Given the description of an element on the screen output the (x, y) to click on. 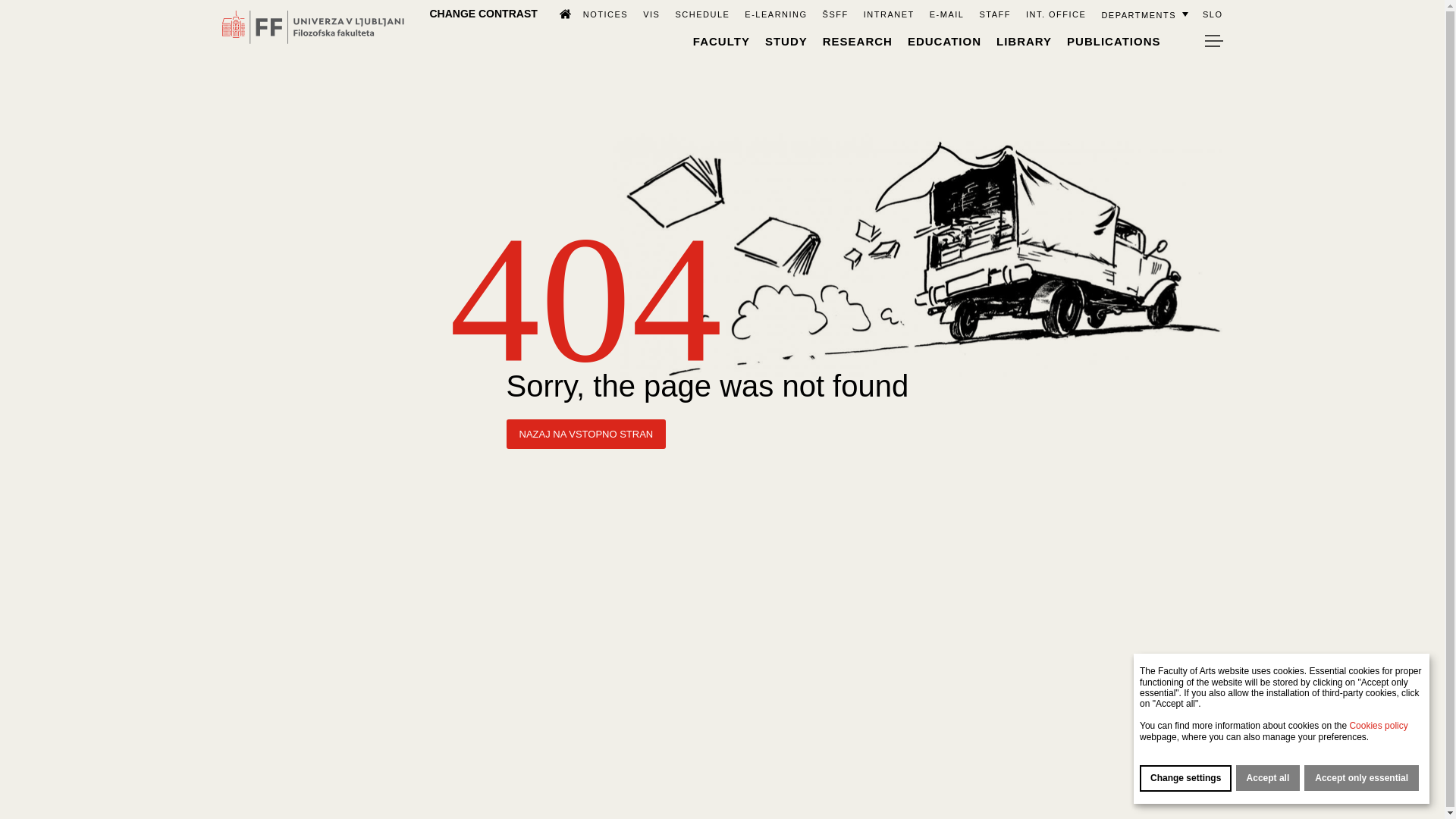
STAFF (994, 13)
DEPARTMENTS (1144, 14)
INTRANET (888, 13)
HOME (558, 13)
CHANGE CONTRAST (483, 13)
Urnik (702, 13)
SCHEDULE (702, 13)
VIS (651, 13)
E-LEARNING (775, 13)
Intranet (888, 13)
